Given the description of an element on the screen output the (x, y) to click on. 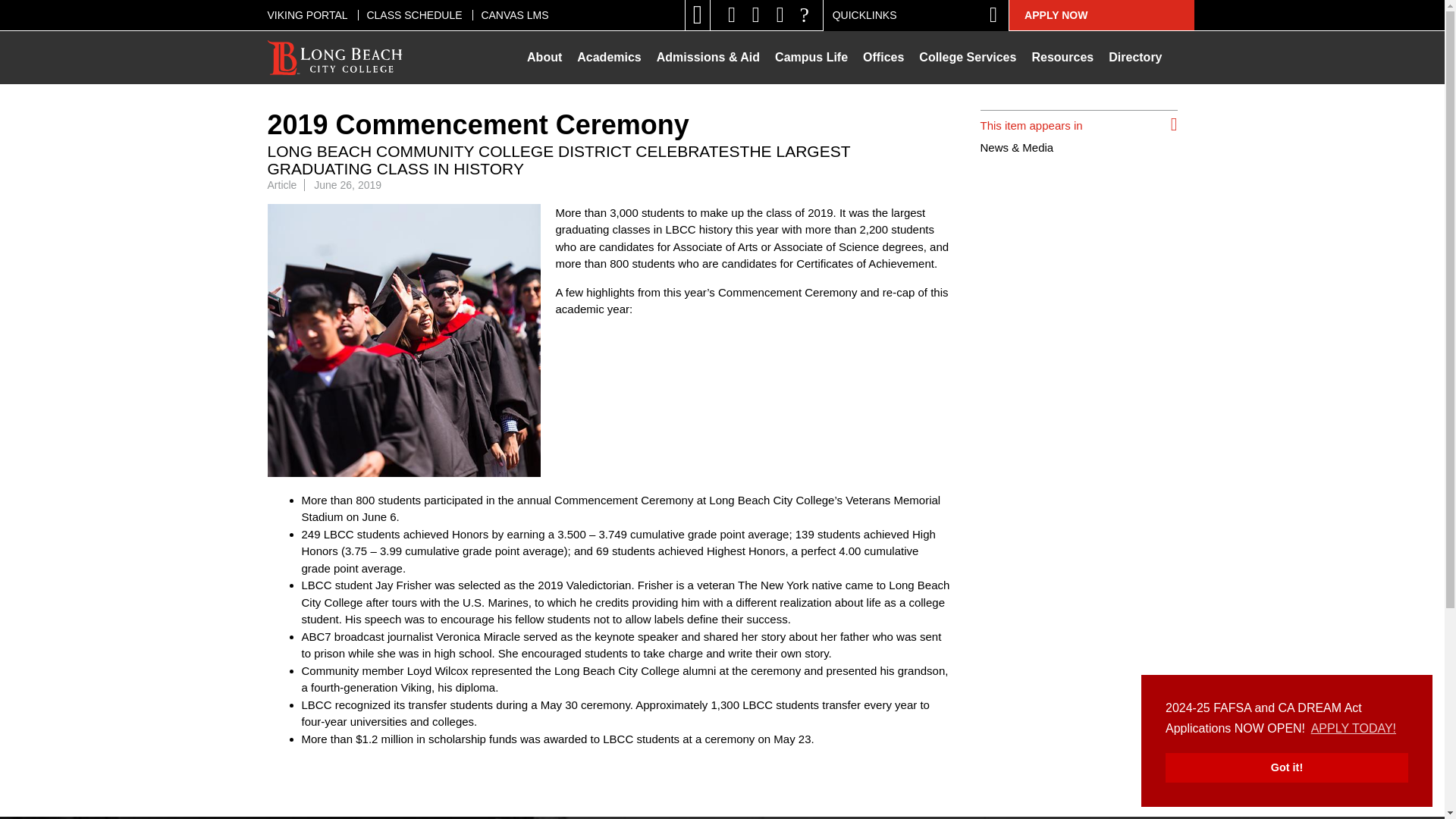
Campus Life (810, 57)
Academics (609, 57)
Academics (609, 57)
Got it! (1286, 767)
Back to home (334, 57)
APPLY TODAY! (1353, 728)
